Given the description of an element on the screen output the (x, y) to click on. 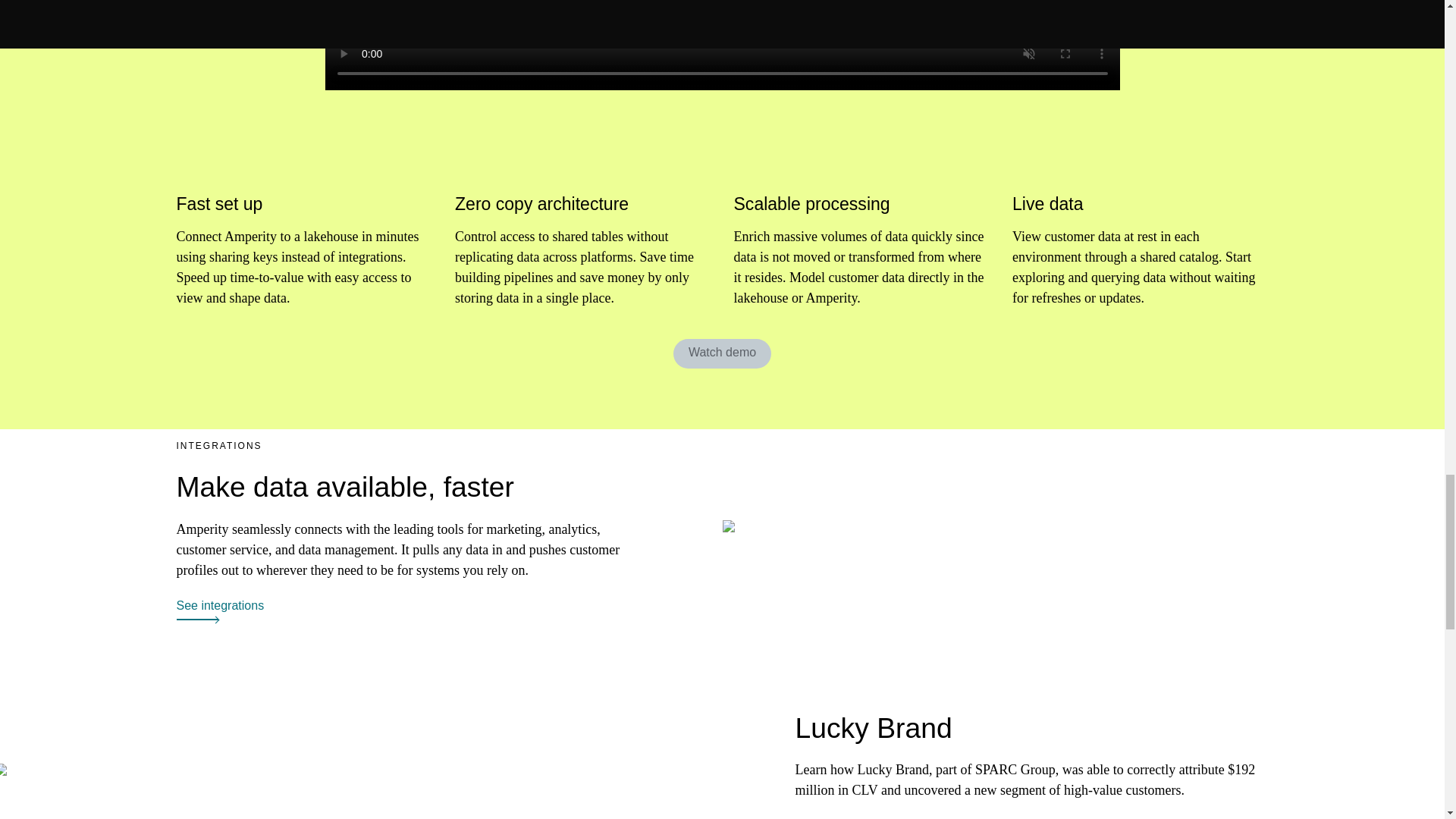
See integrations (219, 609)
See integrations (219, 604)
Customer story (835, 818)
Watch demo (721, 353)
Customer story (835, 817)
Watch demo (721, 351)
